Given the description of an element on the screen output the (x, y) to click on. 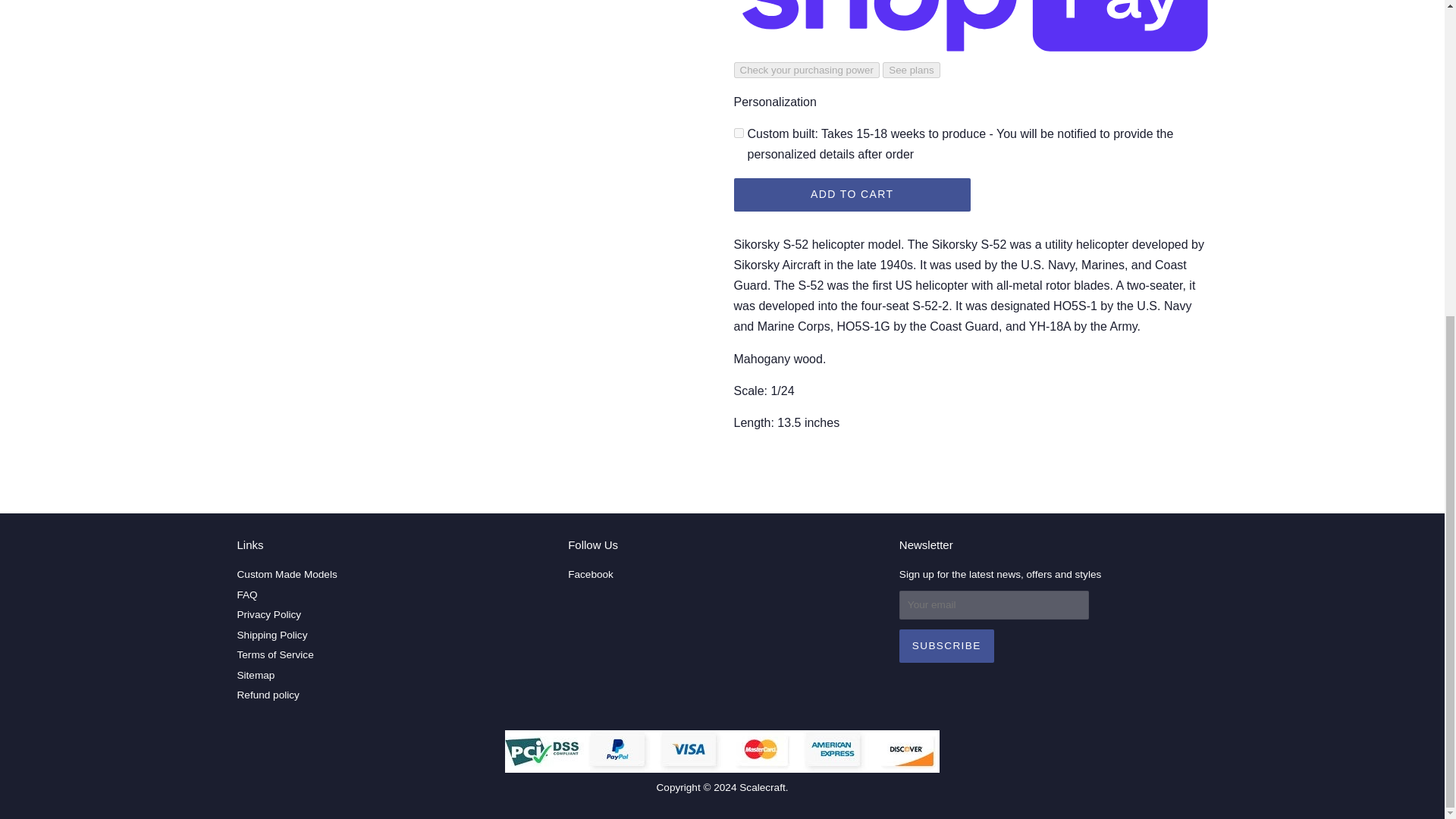
Scalecraft on Facebook (589, 573)
Yes (738, 132)
Subscribe (946, 645)
